Given the description of an element on the screen output the (x, y) to click on. 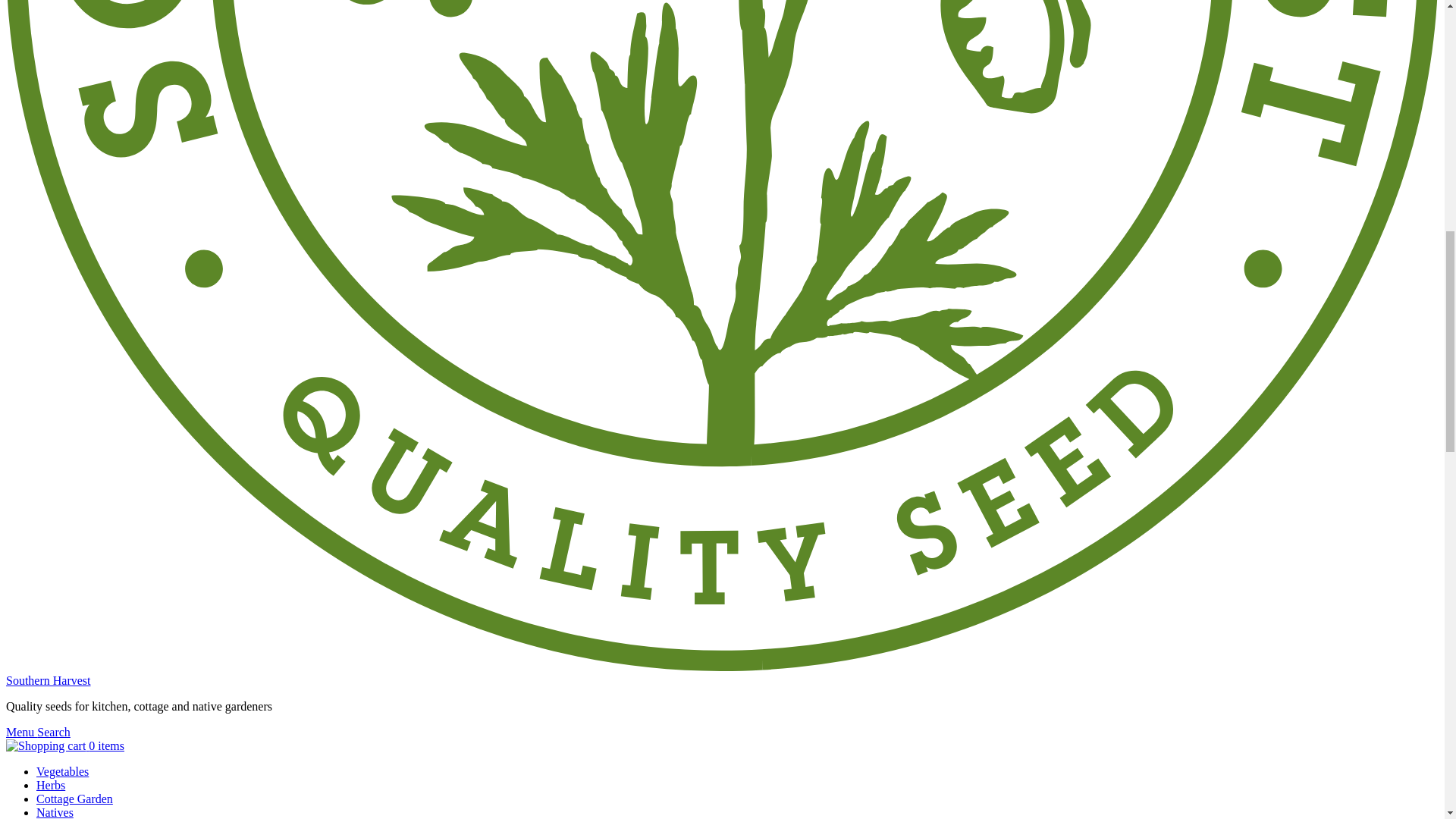
Search (53, 731)
Menu (21, 731)
Herbs (50, 784)
0 items (64, 745)
Cottage Garden (74, 798)
Natives (55, 812)
Home (47, 680)
Vegetables (62, 771)
Southern Harvest (47, 680)
